Given the description of an element on the screen output the (x, y) to click on. 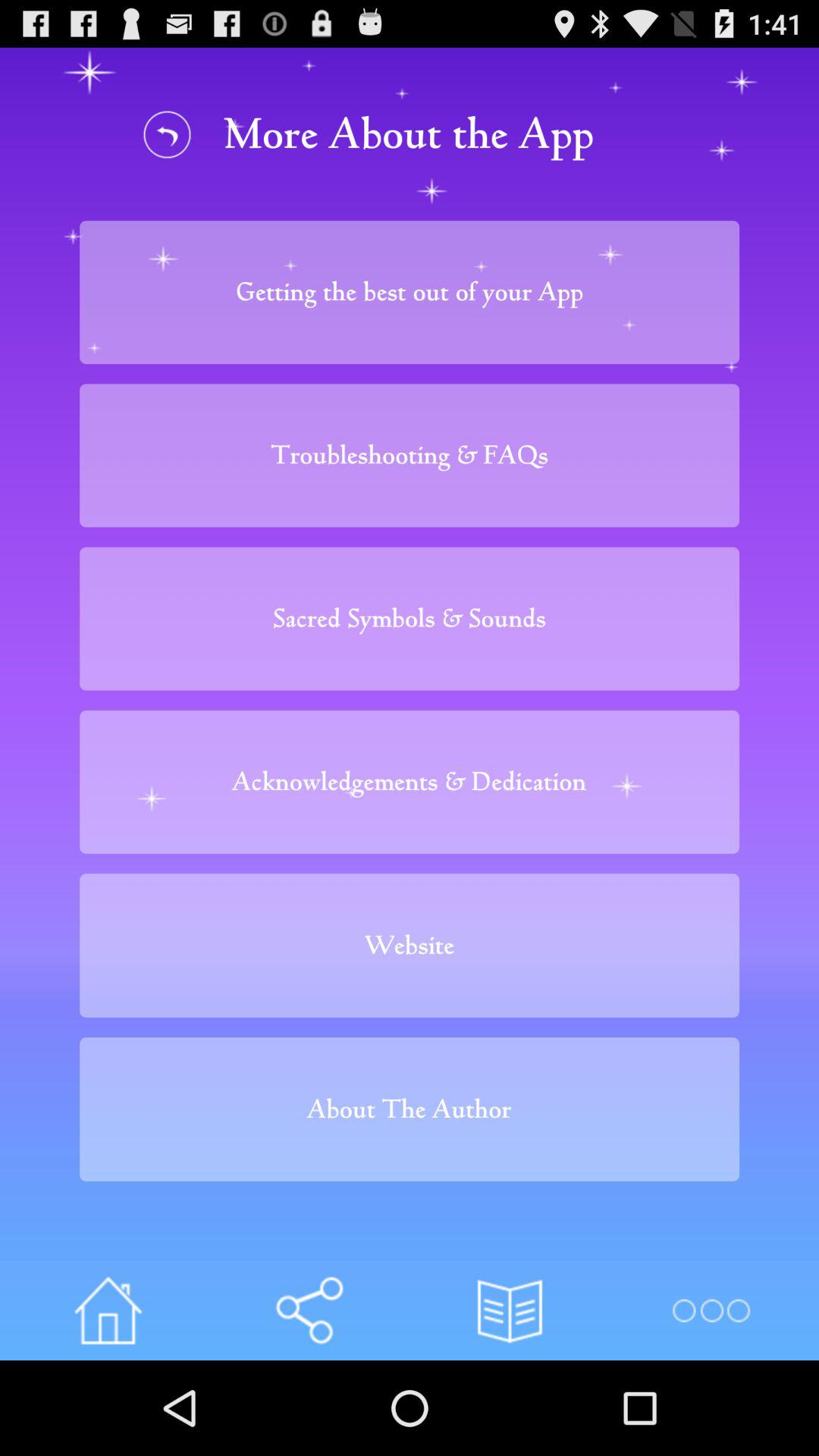
go to main page (107, 1310)
